Given the description of an element on the screen output the (x, y) to click on. 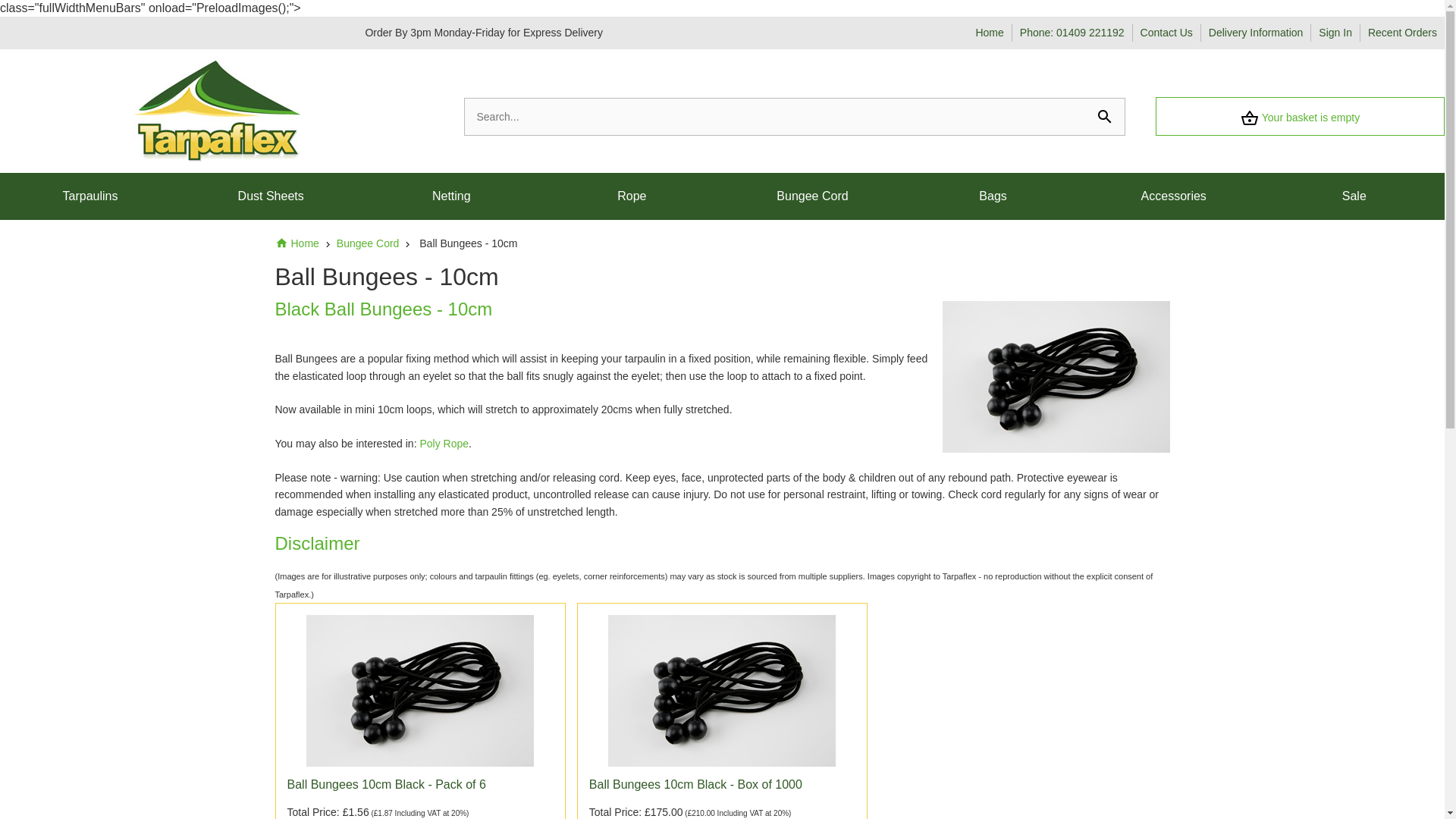
Go! (14, 8)
Ball Bungees 10cm Black - Pack of 6 (419, 690)
Recent Orders (1402, 32)
Tarpaulins (90, 196)
Ball Bungees 10cm Black - Box of 1000 (721, 690)
Your basket is empty (1300, 116)
Sign In (1335, 32)
Home (989, 32)
Dust Sheets (270, 196)
Delivery Information (1255, 32)
Tarpaflex Ltd Tarpaulin Shop (216, 110)
Black Ball Bungees - 10cm (1055, 376)
Contact Us (1166, 32)
